Given the description of an element on the screen output the (x, y) to click on. 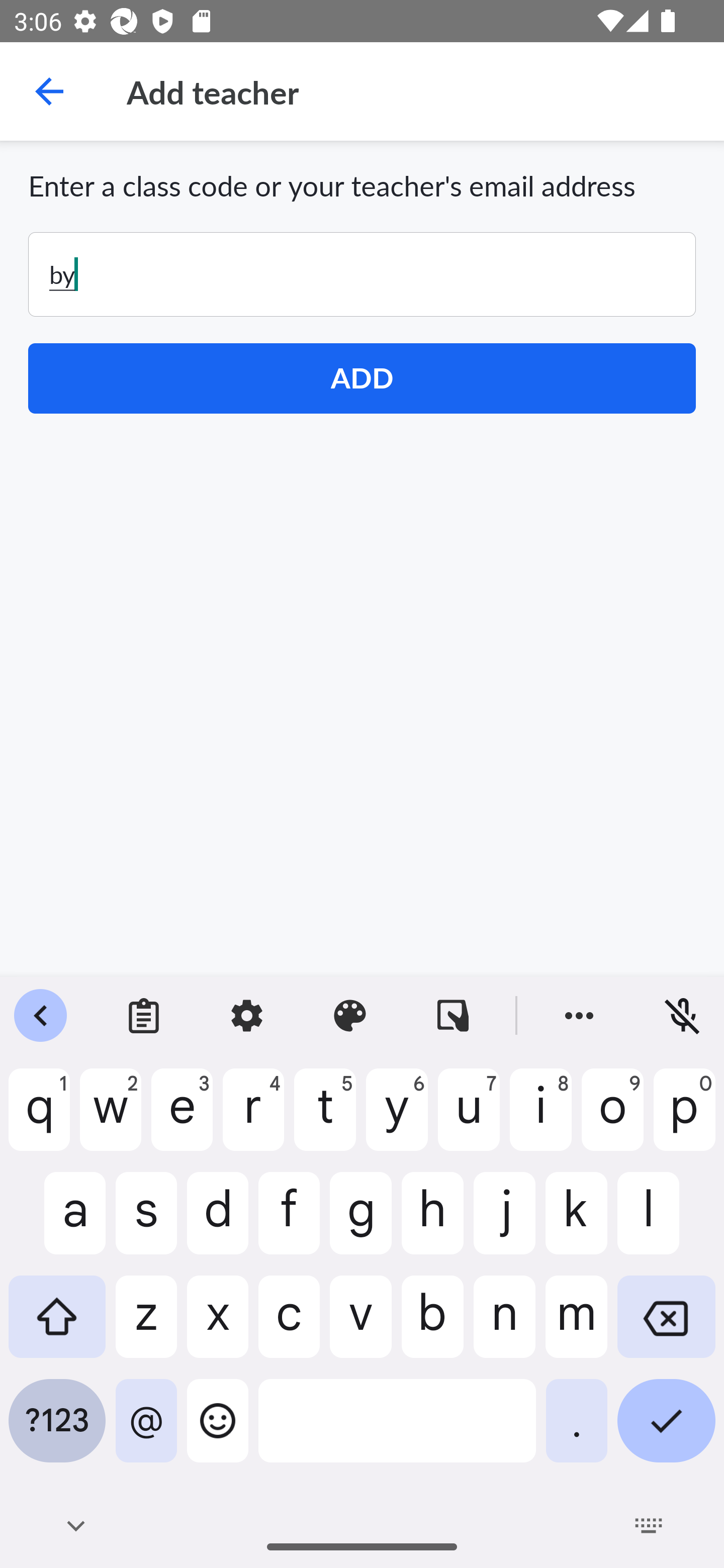
Navigate up (49, 91)
by e.g. ABC123 or teacher@example.com (361, 274)
ADD (361, 378)
